Given the description of an element on the screen output the (x, y) to click on. 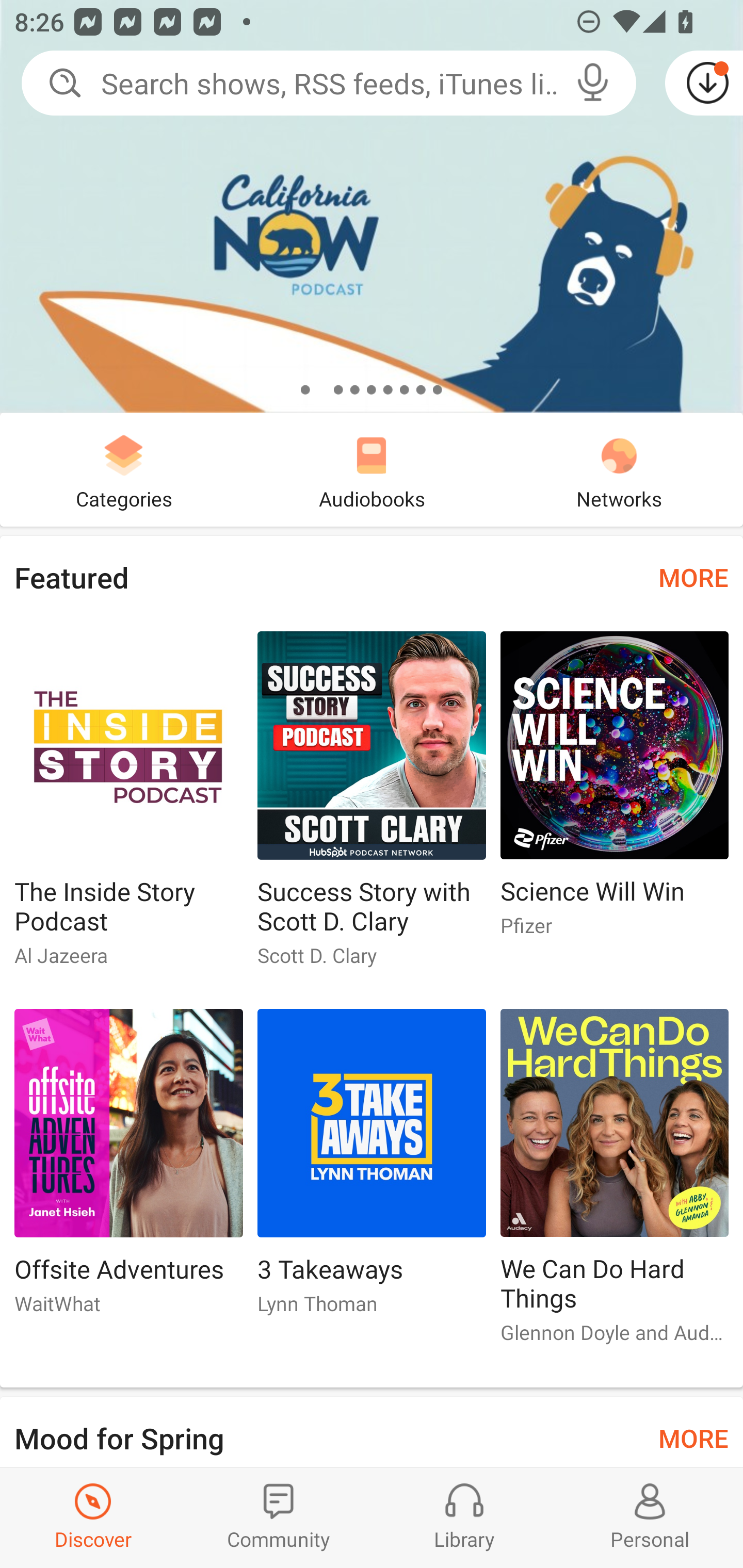
California Now Podcast (371, 206)
Categories (123, 469)
Audiobooks (371, 469)
Networks (619, 469)
MORE (693, 576)
Science Will Win Science Will Win Pfizer (614, 792)
Offsite Adventures Offsite Adventures WaitWhat (128, 1169)
3 Takeaways 3 Takeaways Lynn Thoman (371, 1169)
MORE (693, 1436)
Discover (92, 1517)
Community (278, 1517)
Library (464, 1517)
Profiles and Settings Personal (650, 1517)
